Given the description of an element on the screen output the (x, y) to click on. 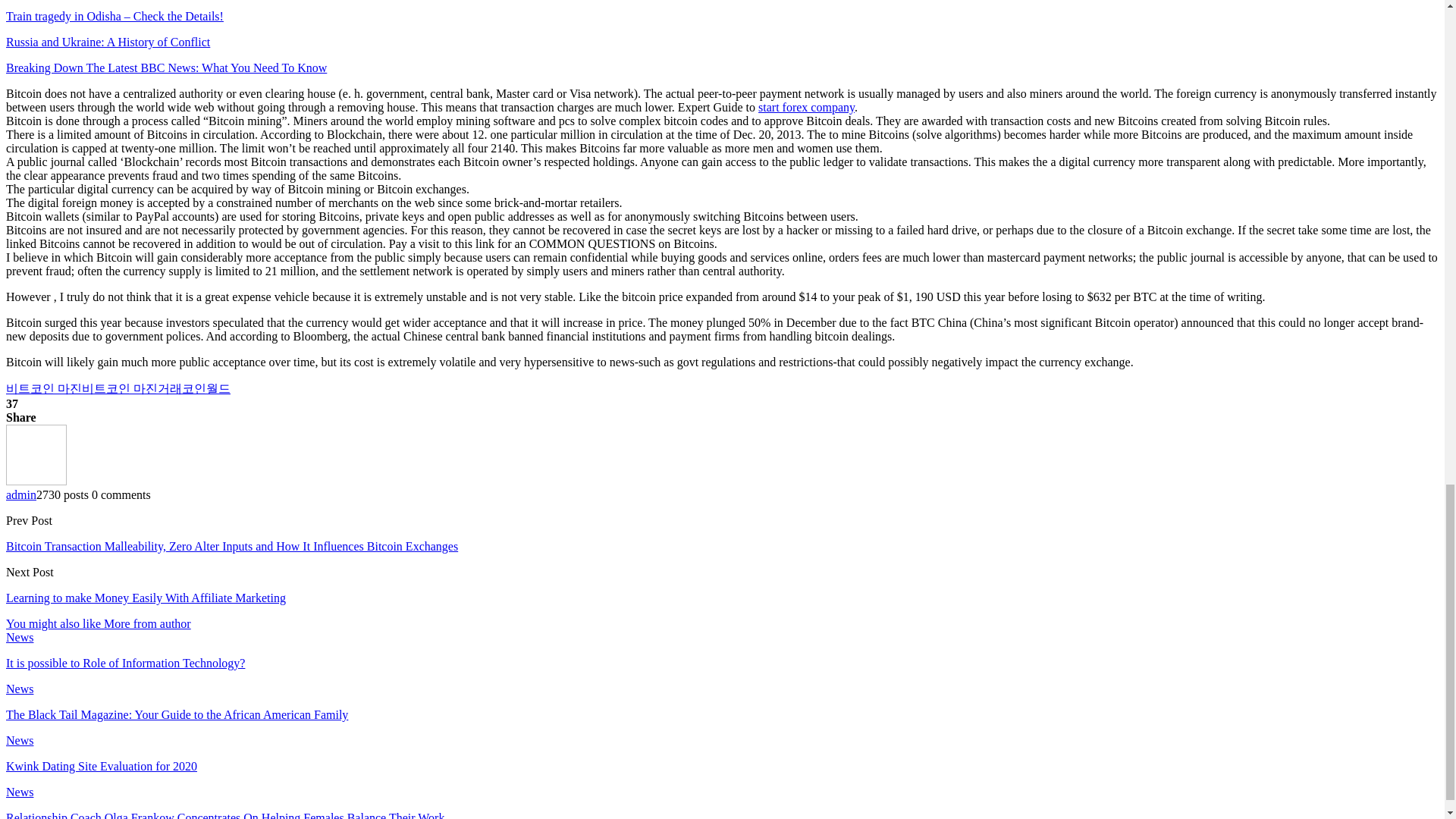
Browse Author Articles (35, 481)
It is possible to Role of Information Technology? (124, 662)
Kwink Dating Site Evaluation for 2020 (100, 766)
